Given the description of an element on the screen output the (x, y) to click on. 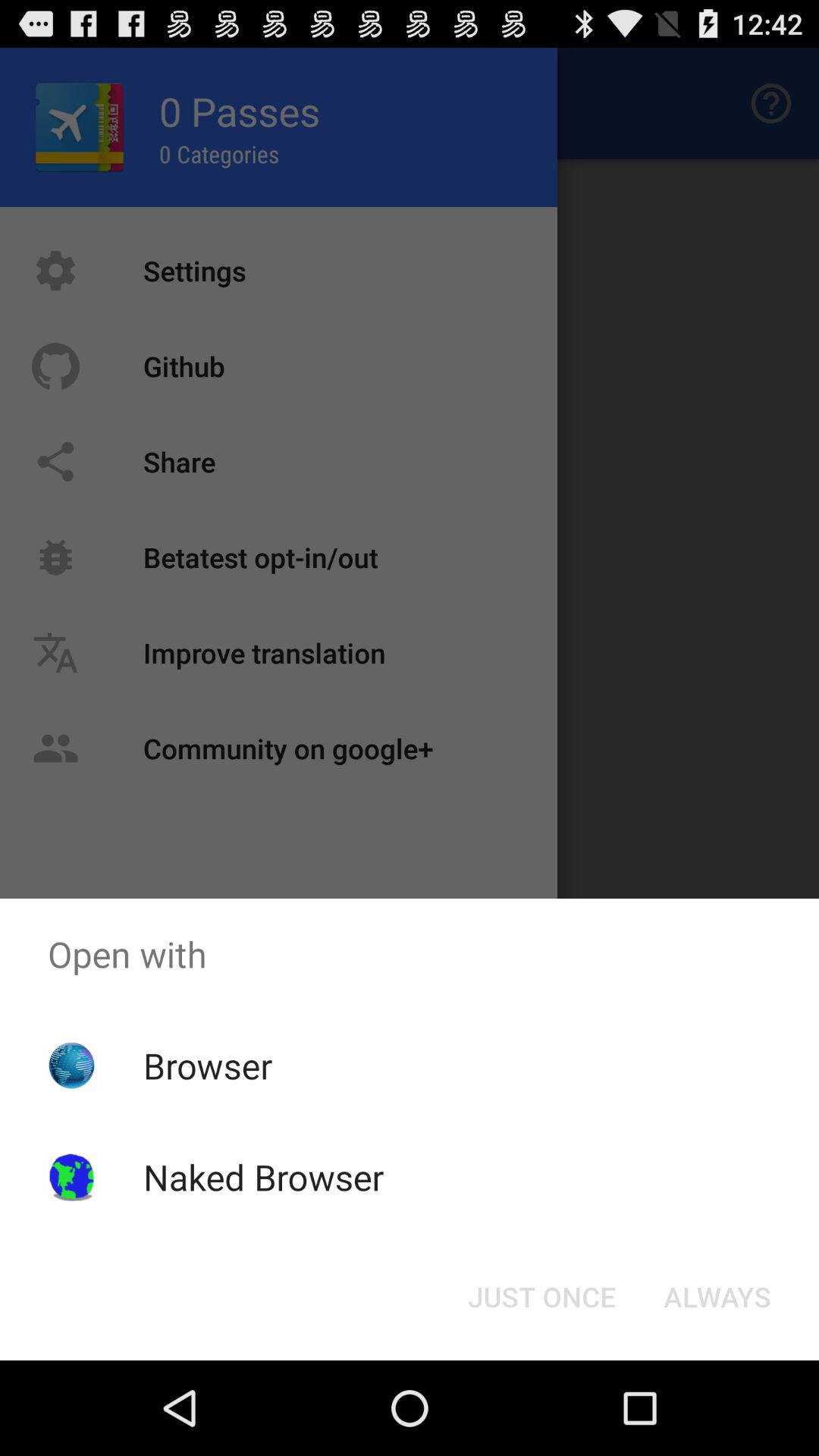
select the item at the bottom (541, 1296)
